Given the description of an element on the screen output the (x, y) to click on. 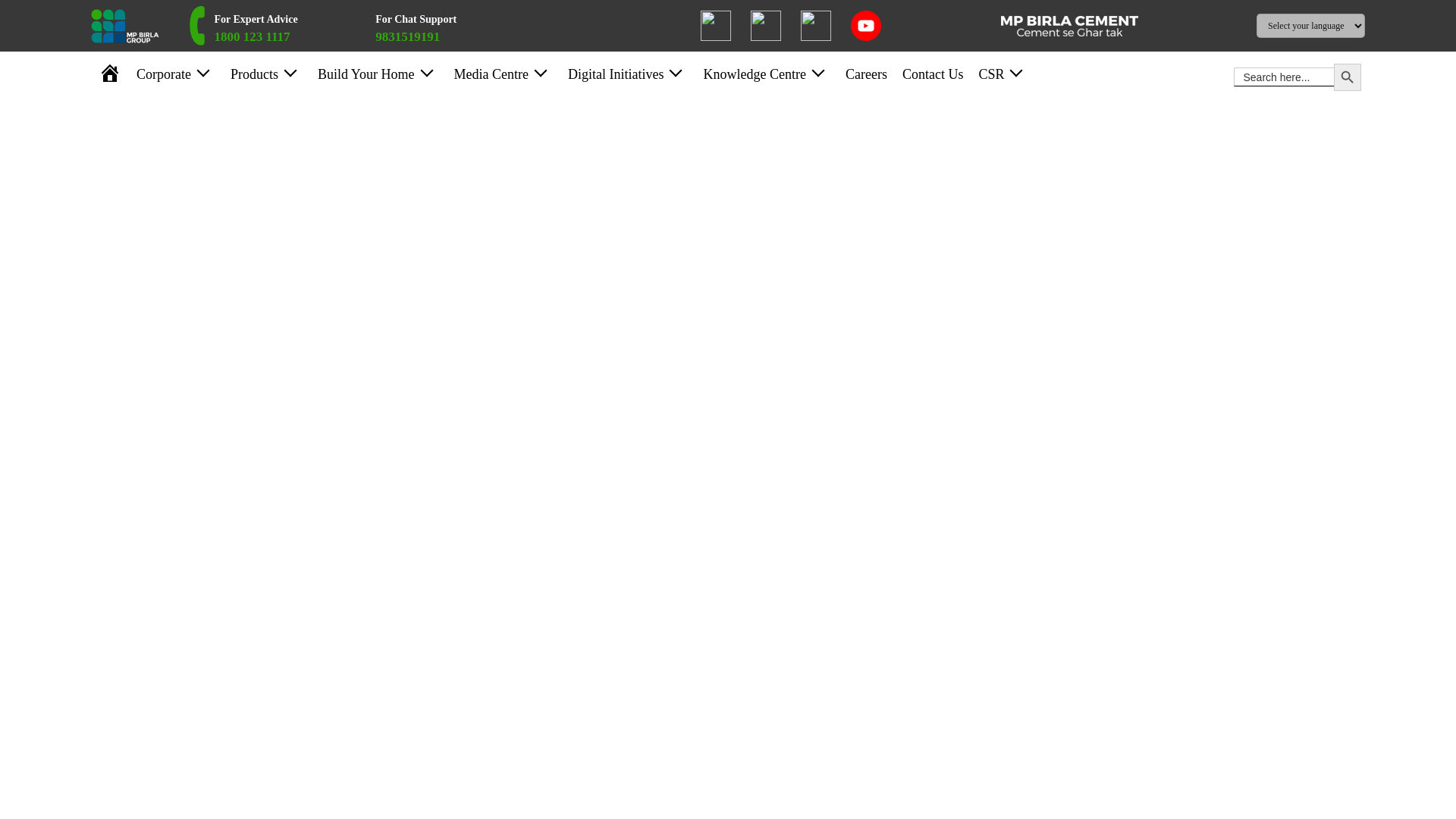
Home (109, 73)
Products (254, 73)
Corporate (163, 73)
Open menu (287, 68)
Open menu (377, 25)
